Given the description of an element on the screen output the (x, y) to click on. 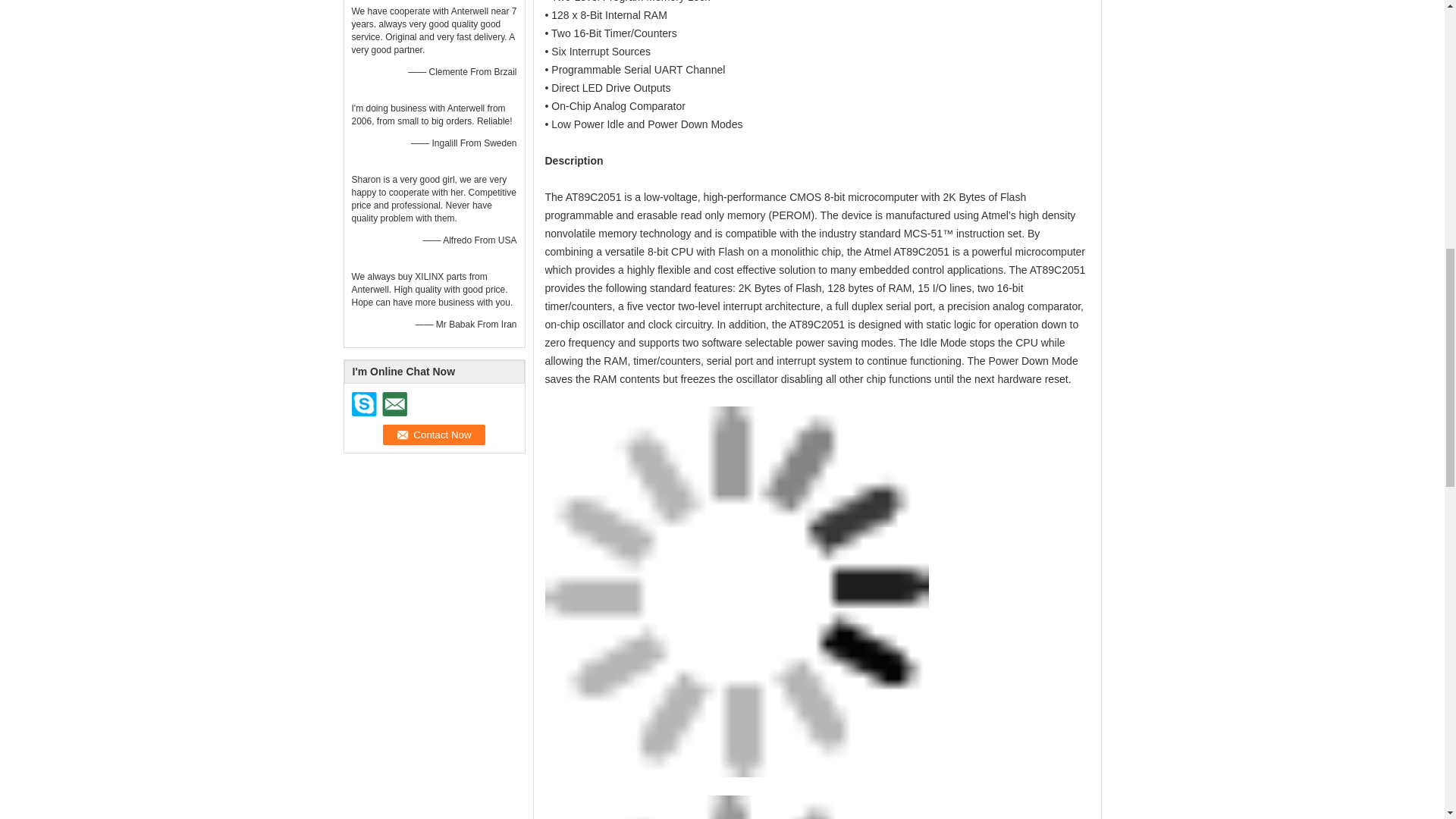
Contact Now (433, 435)
Contact Now (433, 435)
